Given the description of an element on the screen output the (x, y) to click on. 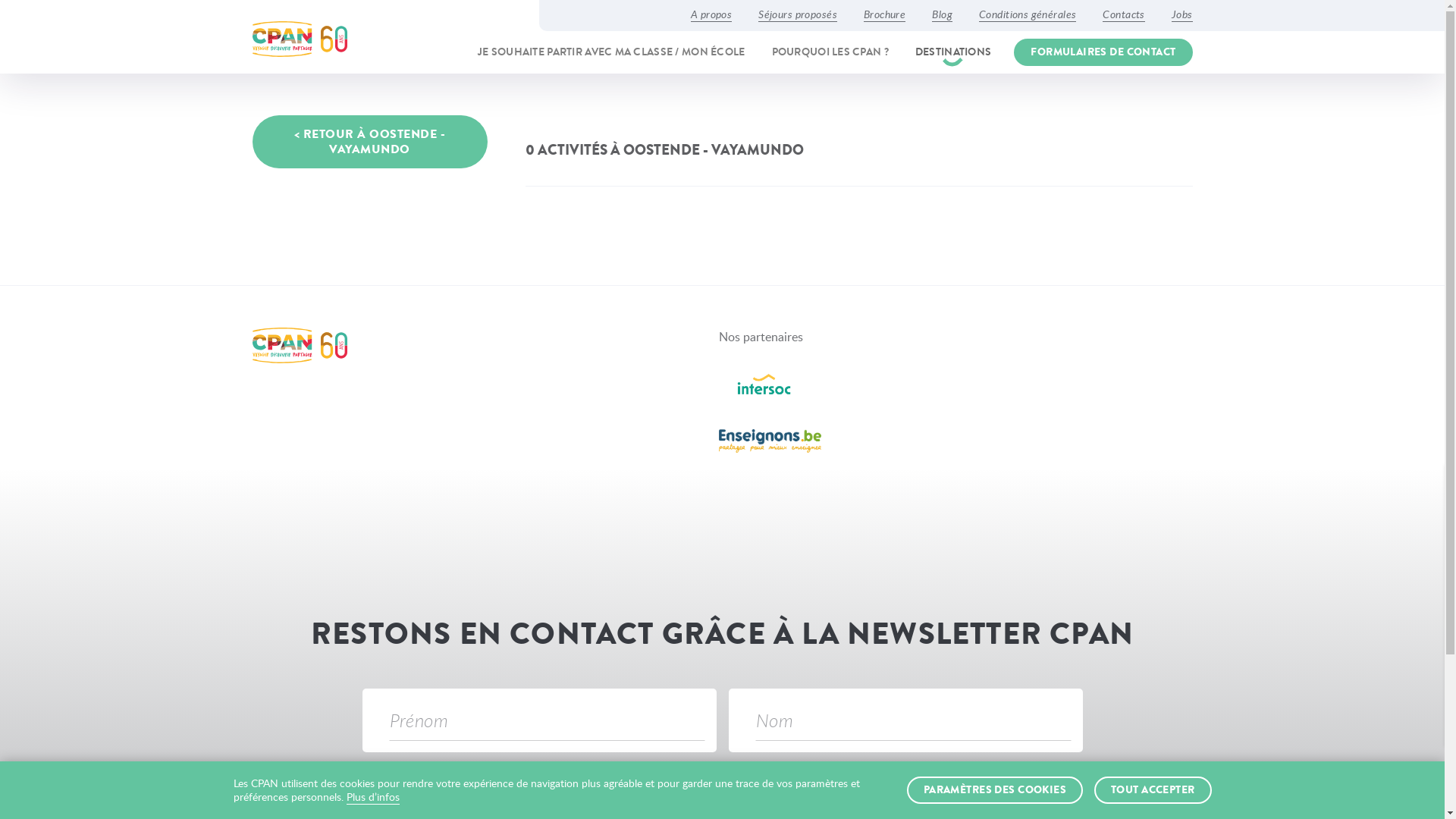
Brochure Element type: text (884, 13)
ENVOYER Element type: text (1020, 794)
CPAN Element type: hover (298, 38)
TOUT ACCEPTER Element type: text (1152, 789)
Contacts Element type: text (1123, 13)
Blog Element type: text (941, 13)
A propos Element type: text (710, 13)
FORMULAIRES DE CONTACT Element type: text (1102, 51)
DESTINATIONS Element type: text (953, 52)
Jobs Element type: text (1181, 13)
POURQUOI LES CPAN ? Element type: text (829, 52)
